Given the description of an element on the screen output the (x, y) to click on. 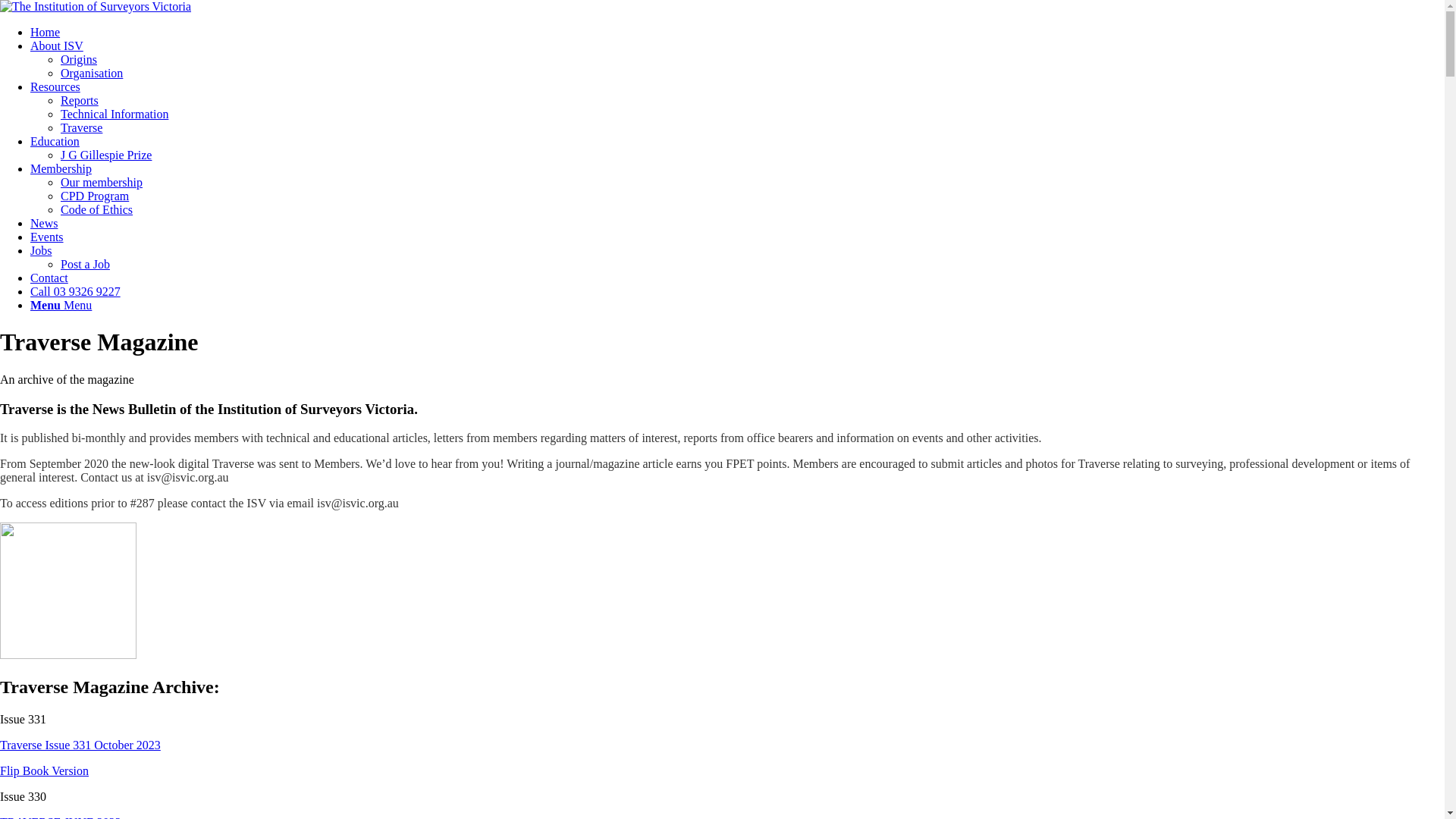
About ISV Element type: text (56, 45)
Technical Information Element type: text (114, 113)
J G Gillespie Prize Element type: text (105, 154)
ISV-logo Element type: hover (95, 6)
Call 03 9326 9227 Element type: text (75, 291)
News Element type: text (43, 222)
Events Element type: text (46, 236)
Code of Ethics Element type: text (96, 209)
Organisation Element type: text (91, 72)
Our membership Element type: text (101, 181)
Jobs Element type: text (40, 250)
ISV Digital Traverse 2020 Element type: hover (68, 590)
Flip Book Version Element type: text (44, 770)
Membership Element type: text (60, 168)
Menu Menu Element type: text (60, 304)
Traverse Issue 331 October 2023 Element type: text (80, 744)
Resources Element type: text (55, 86)
Reports Element type: text (79, 100)
Traverse Element type: text (81, 127)
Post a Job Element type: text (84, 263)
Education Element type: text (54, 140)
Home Element type: text (44, 31)
CPD Program Element type: text (94, 195)
Contact Element type: text (49, 277)
Origins Element type: text (78, 59)
